Given the description of an element on the screen output the (x, y) to click on. 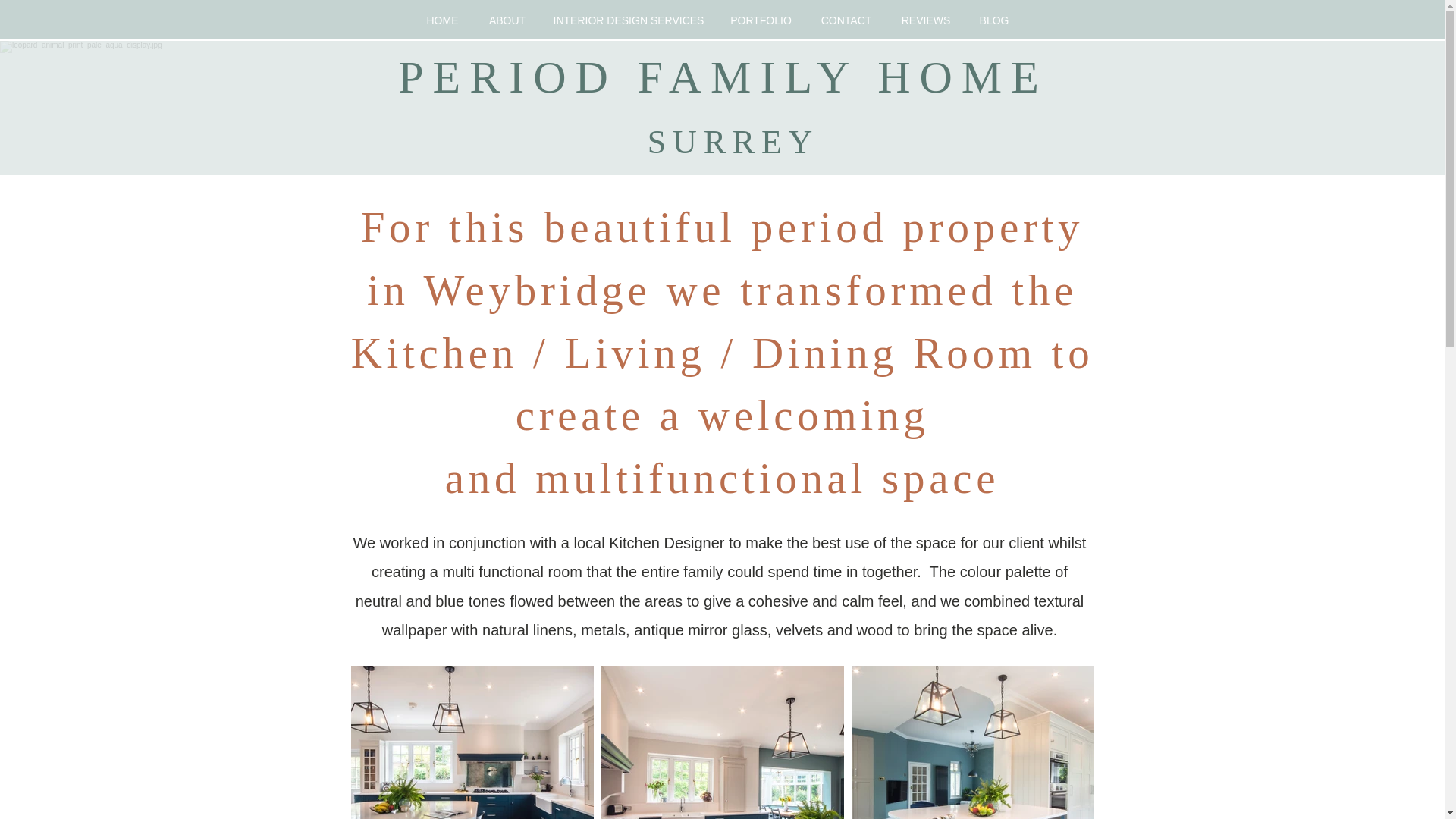
ABOUT (506, 20)
PORTFOLIO (760, 20)
BLOG (993, 20)
REVIEWS (925, 20)
CONTACT (845, 20)
HOME (441, 20)
